Given the description of an element on the screen output the (x, y) to click on. 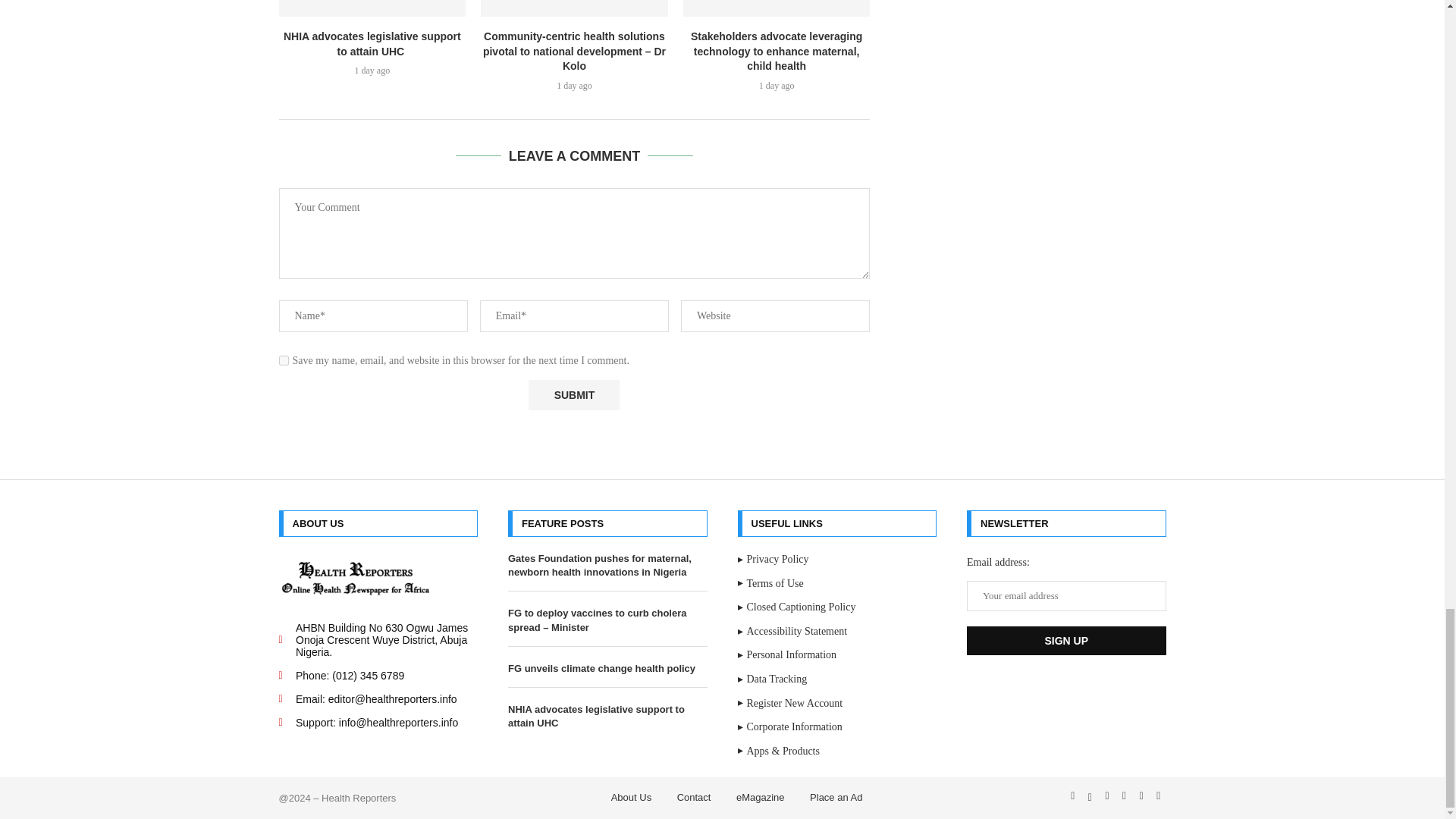
Submit (574, 395)
yes (283, 360)
Sign up (1066, 640)
